Given the description of an element on the screen output the (x, y) to click on. 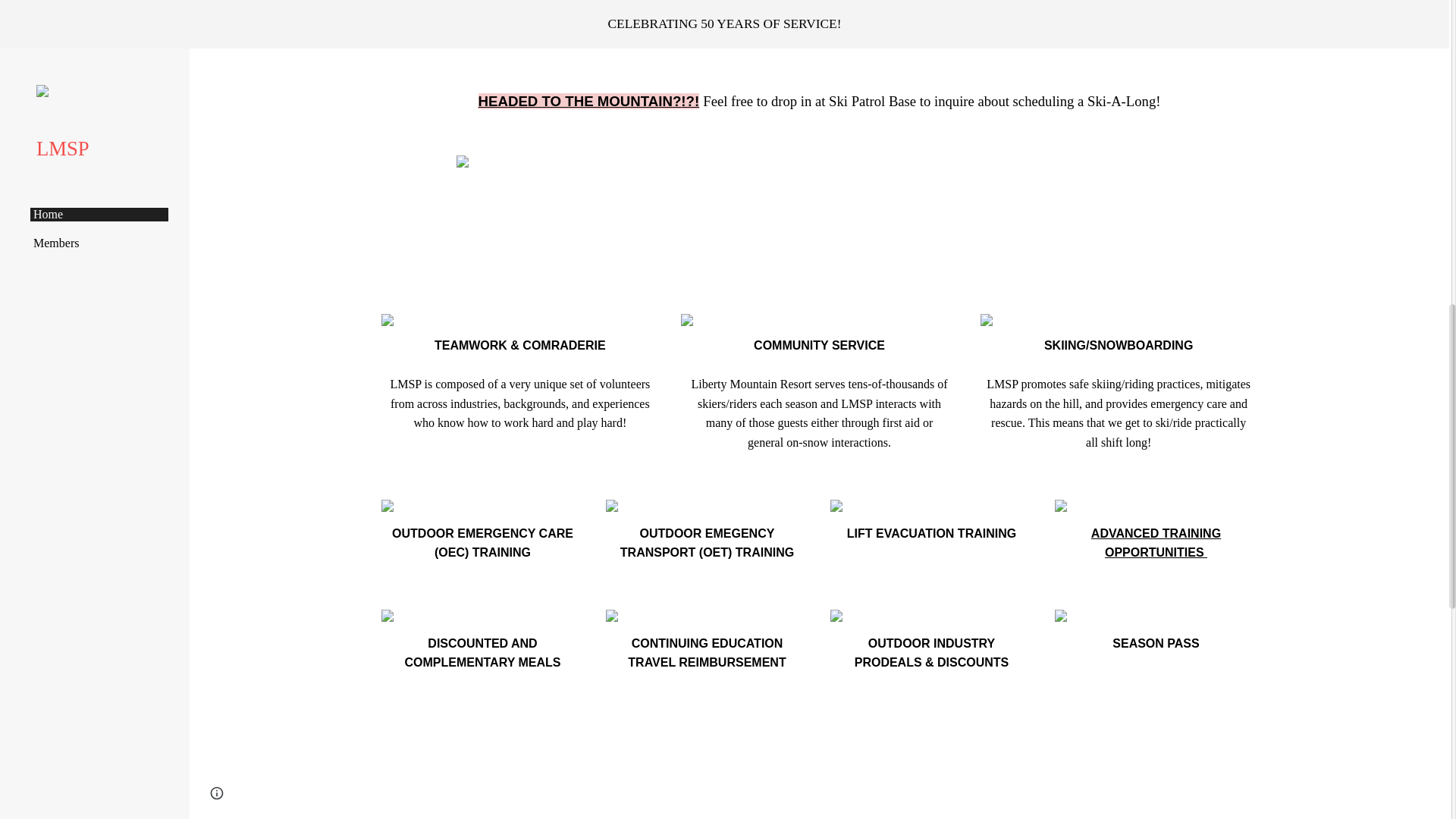
ADVANCED TRAINING OPPORTUNITIES  (1155, 543)
